Given the description of an element on the screen output the (x, y) to click on. 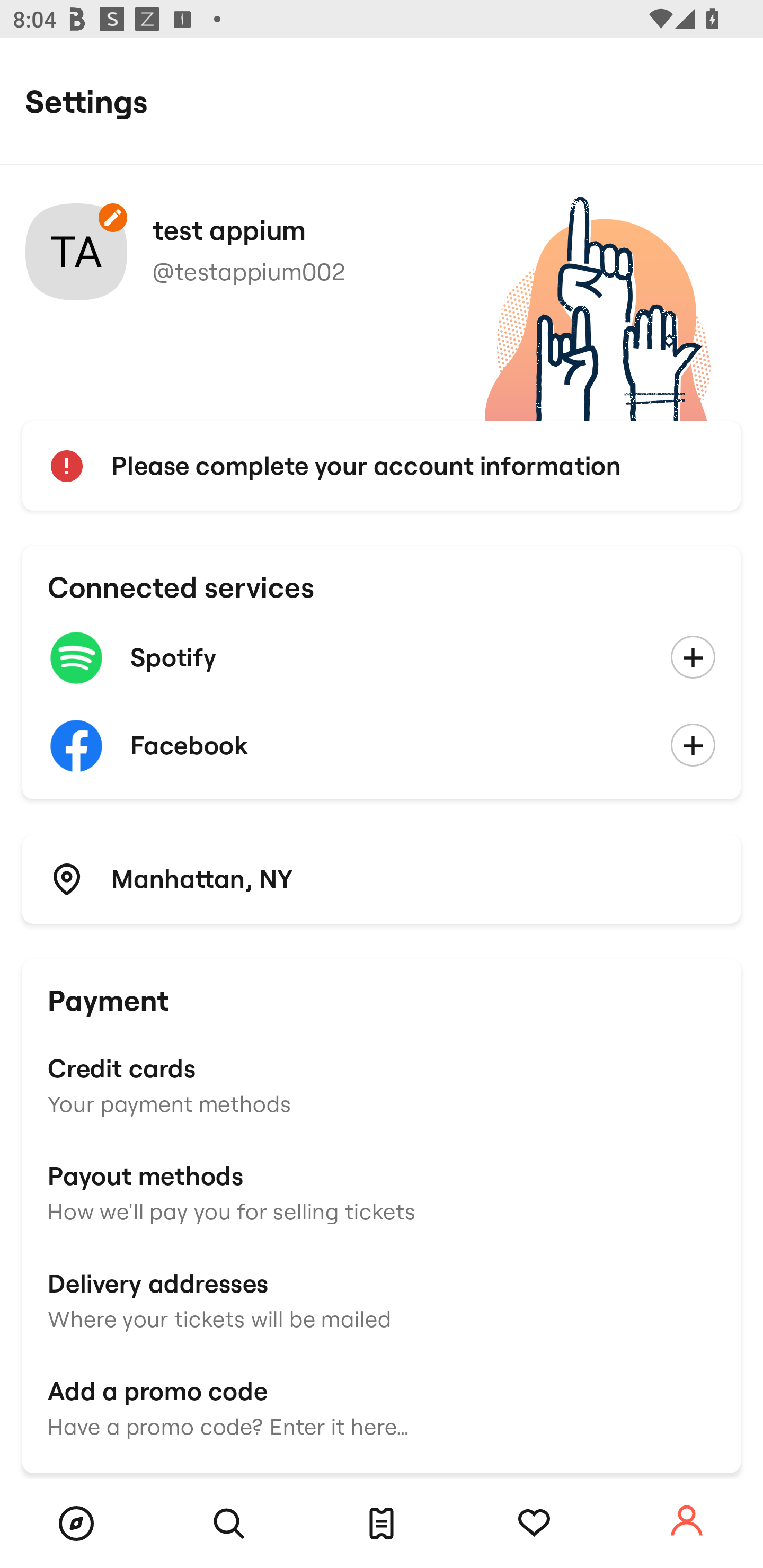
Your account photo (76, 252)
Please complete your account information (381, 466)
Spotify (381, 658)
Facebook (381, 746)
Manhattan, NY (381, 878)
Credit cards Your payment methods (381, 1084)
Add a promo code Have a promo code? Enter it here… (381, 1406)
Browse (76, 1523)
Search (228, 1523)
Tickets (381, 1523)
Tracking (533, 1523)
Account (686, 1521)
